Given the description of an element on the screen output the (x, y) to click on. 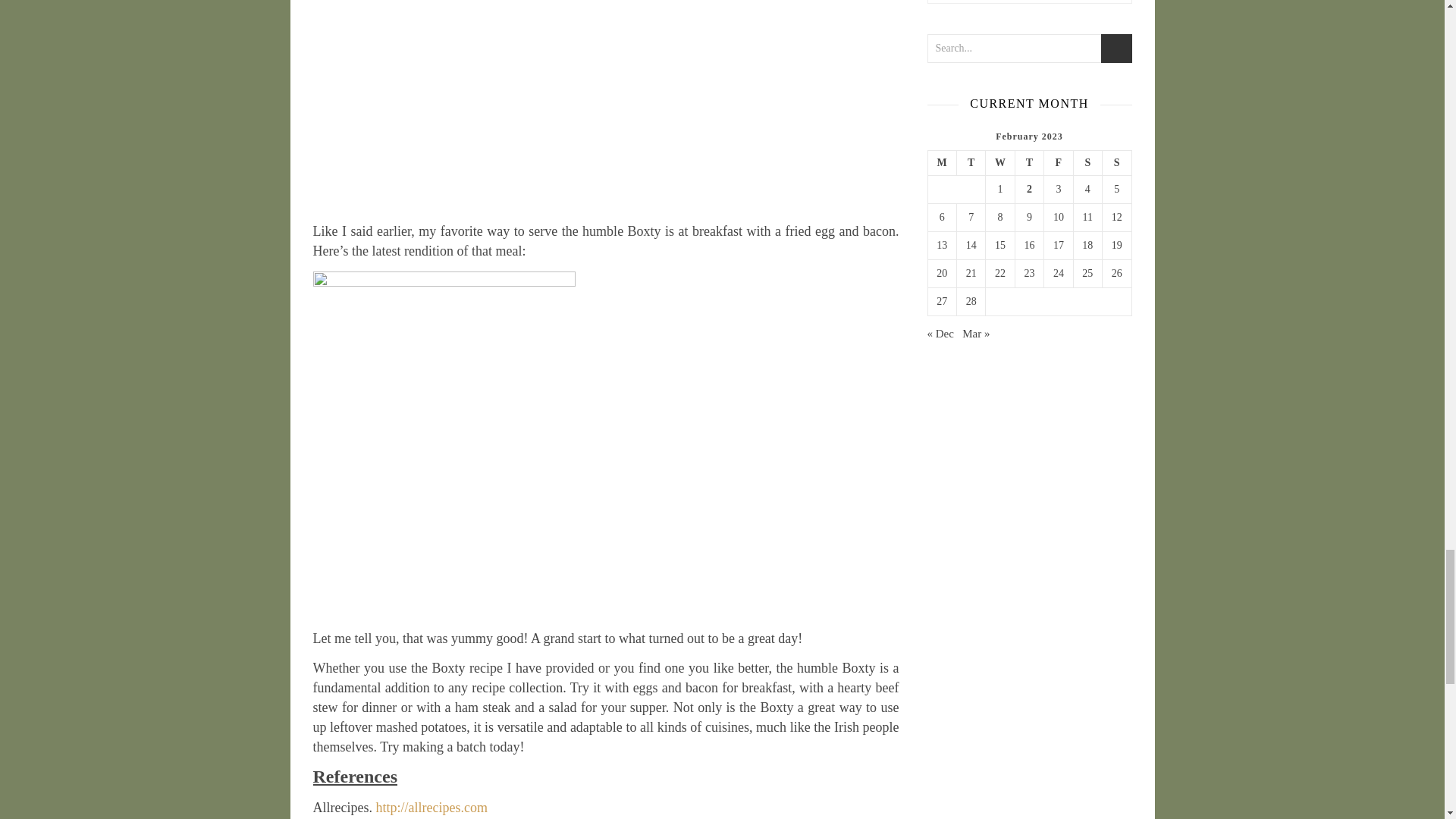
Wednesday (999, 162)
Saturday (1087, 162)
Tuesday (970, 162)
Thursday (1028, 162)
Friday (1058, 162)
Monday (941, 162)
